Given the description of an element on the screen output the (x, y) to click on. 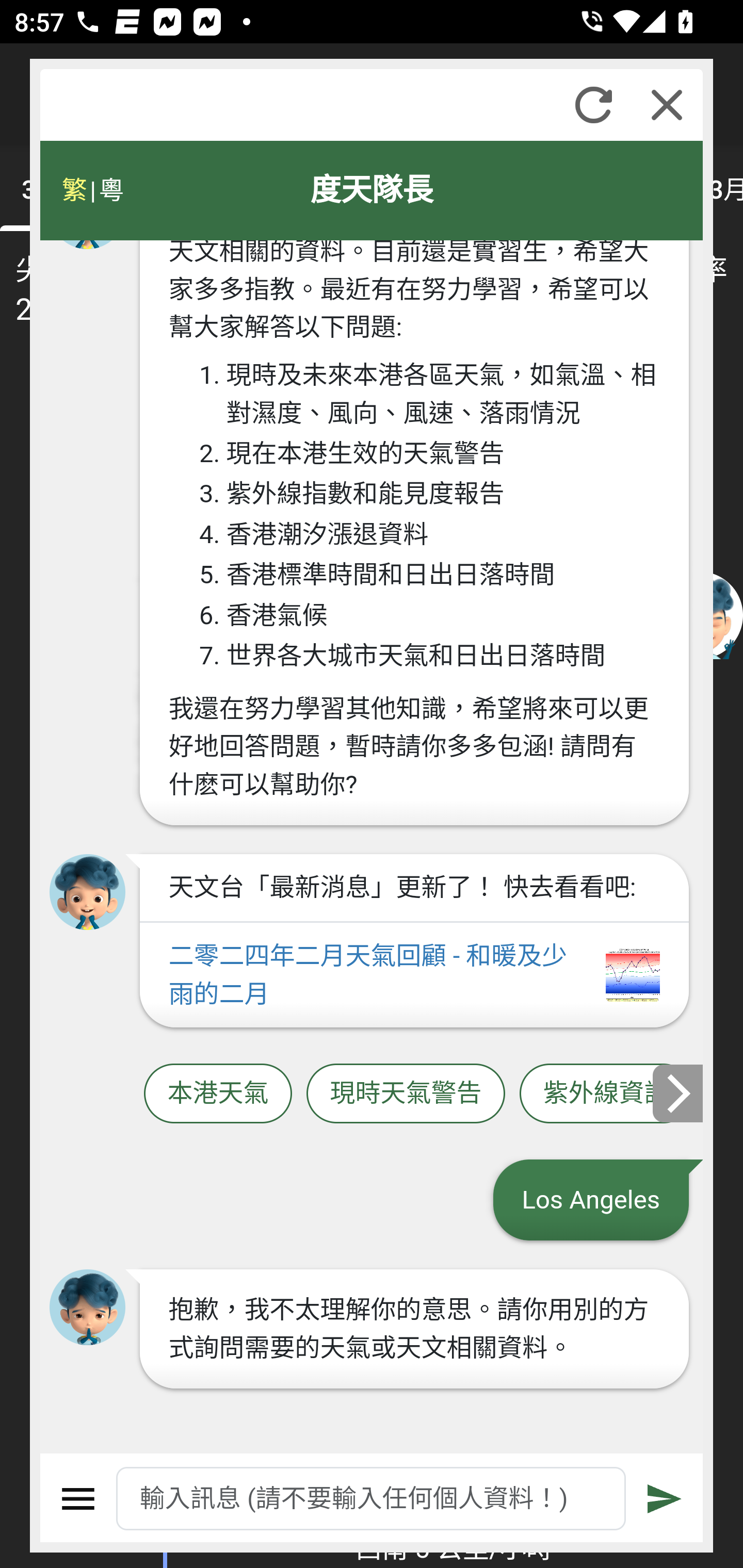
重新整理 (593, 104)
關閉 (666, 104)
繁 (73, 190)
粵 (110, 190)
二零二四年二月天氣回顧 - 和暖及少雨的二月 (413, 974)
本港天氣 (217, 1093)
現時天氣警告 (405, 1093)
紫外線資訊 (605, 1093)
下一張 (678, 1092)
選單 (78, 1498)
遞交 (665, 1498)
